Given the description of an element on the screen output the (x, y) to click on. 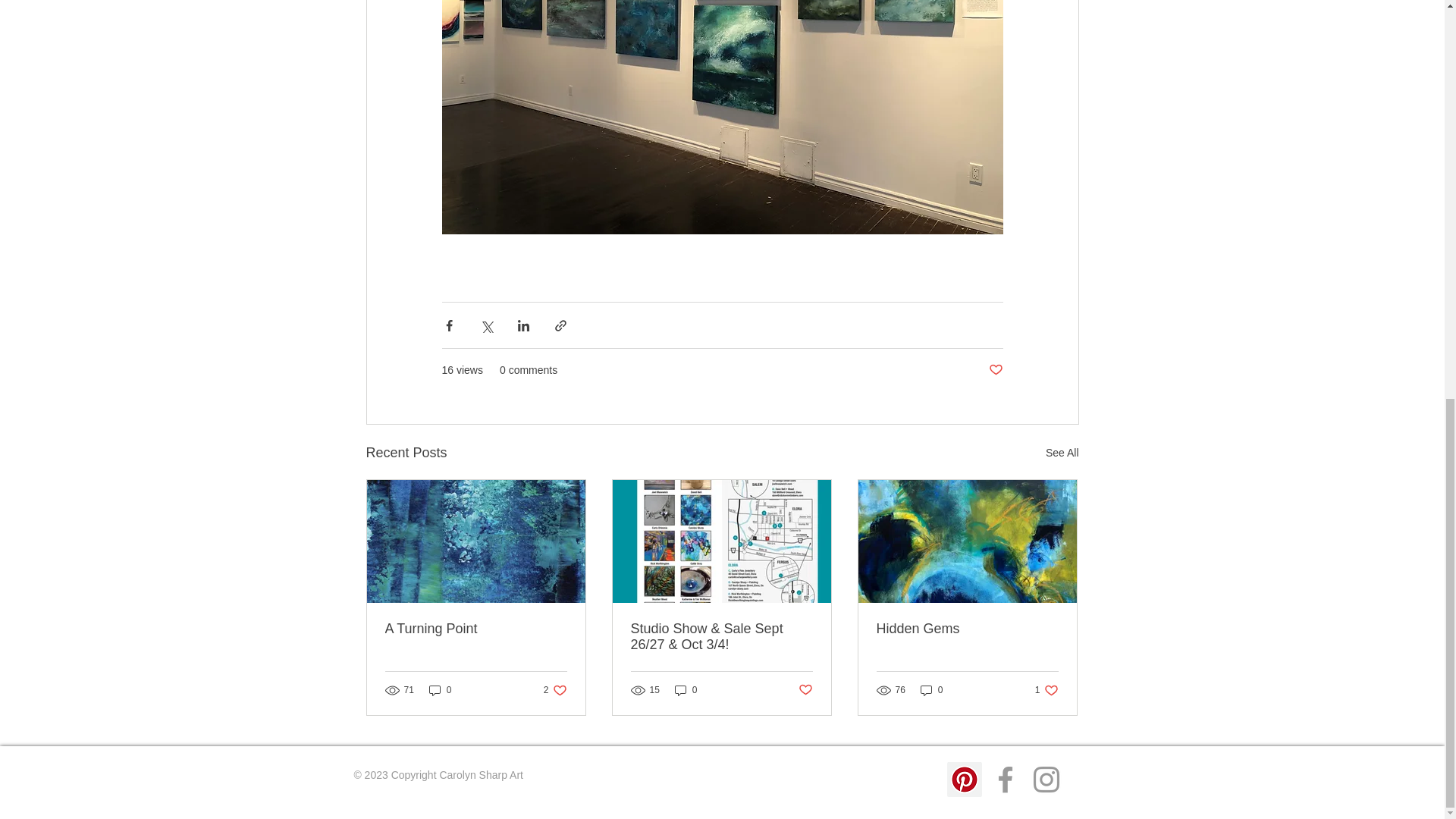
Links (362, 799)
Post not marked as liked (995, 370)
0 (931, 690)
See All (1061, 453)
A Turning Point (476, 628)
0 (685, 690)
Post not marked as liked (1046, 690)
0 (804, 690)
